Given the description of an element on the screen output the (x, y) to click on. 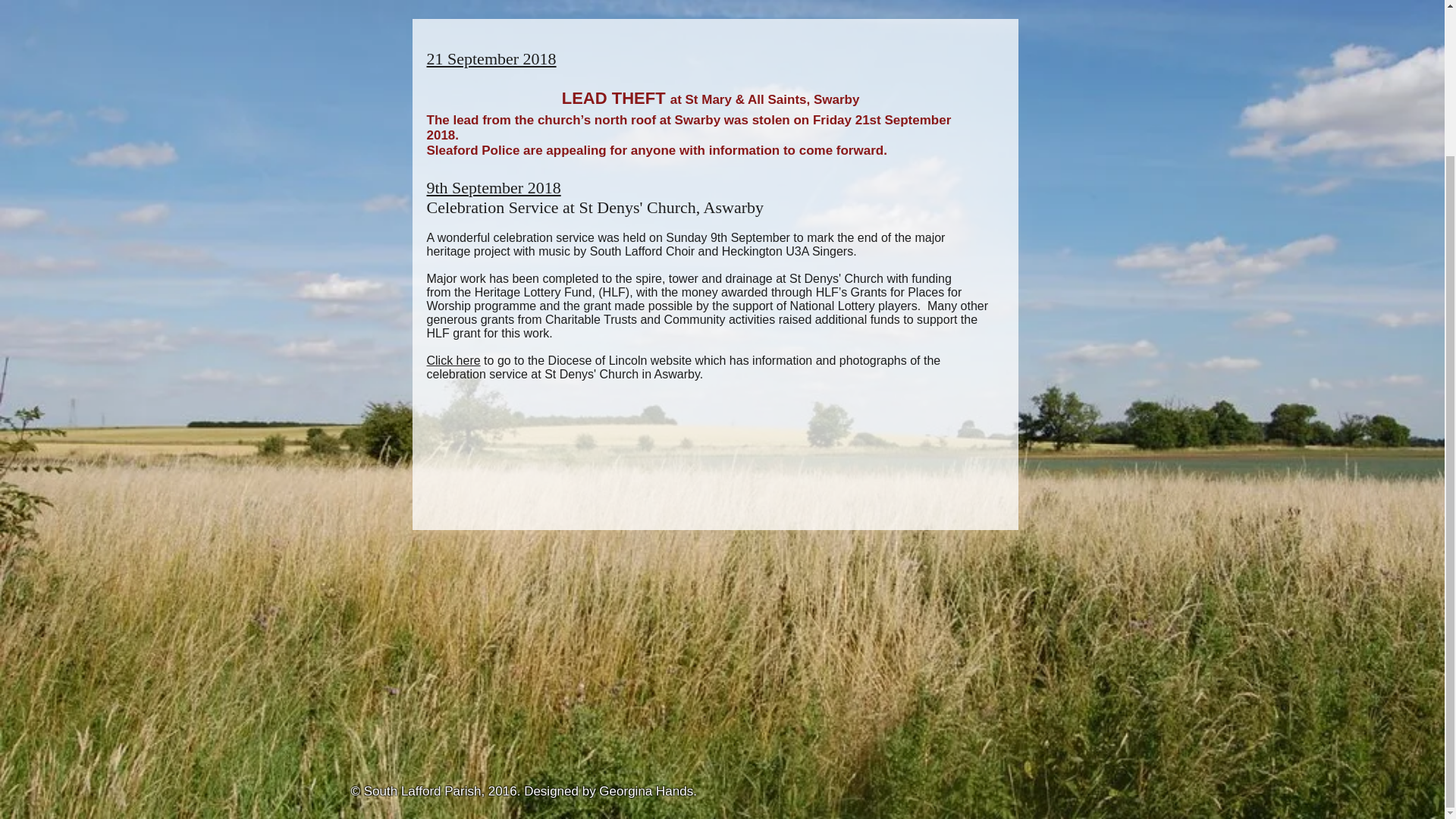
Sleaford (451, 150)
Click here (453, 359)
